Given the description of an element on the screen output the (x, y) to click on. 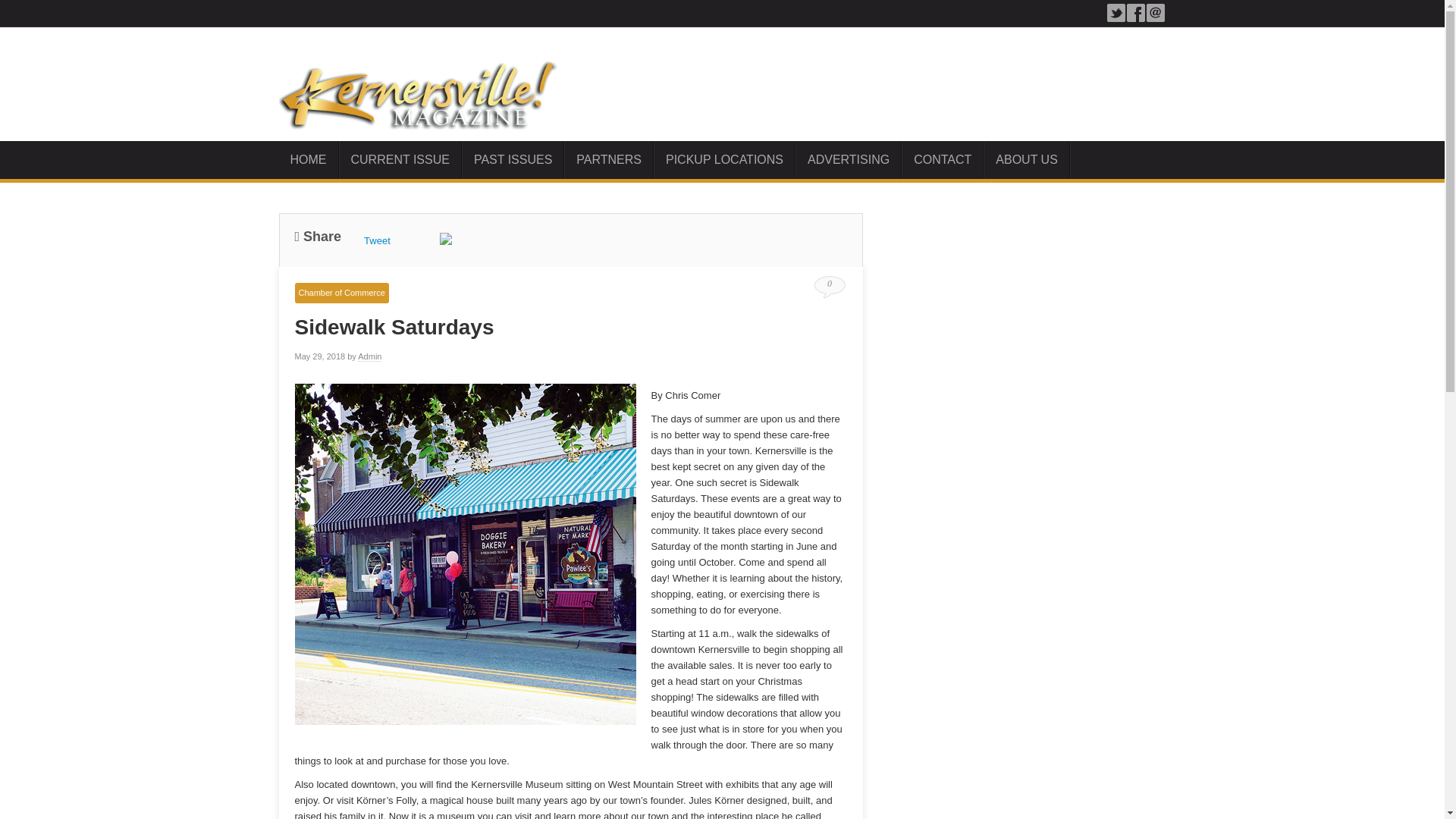
CURRENT ISSUE (400, 159)
CONTACT (943, 159)
No Comments (829, 282)
Admin (369, 356)
ADVERTISING (848, 159)
ABOUT US (1027, 159)
HOME (309, 159)
View all posts by Admin (369, 356)
PICKUP LOCATIONS (723, 159)
Chamber of Commerce (341, 292)
PAST ISSUES (513, 159)
Tweet (377, 240)
PARTNERS (608, 159)
0 (829, 282)
